Given the description of an element on the screen output the (x, y) to click on. 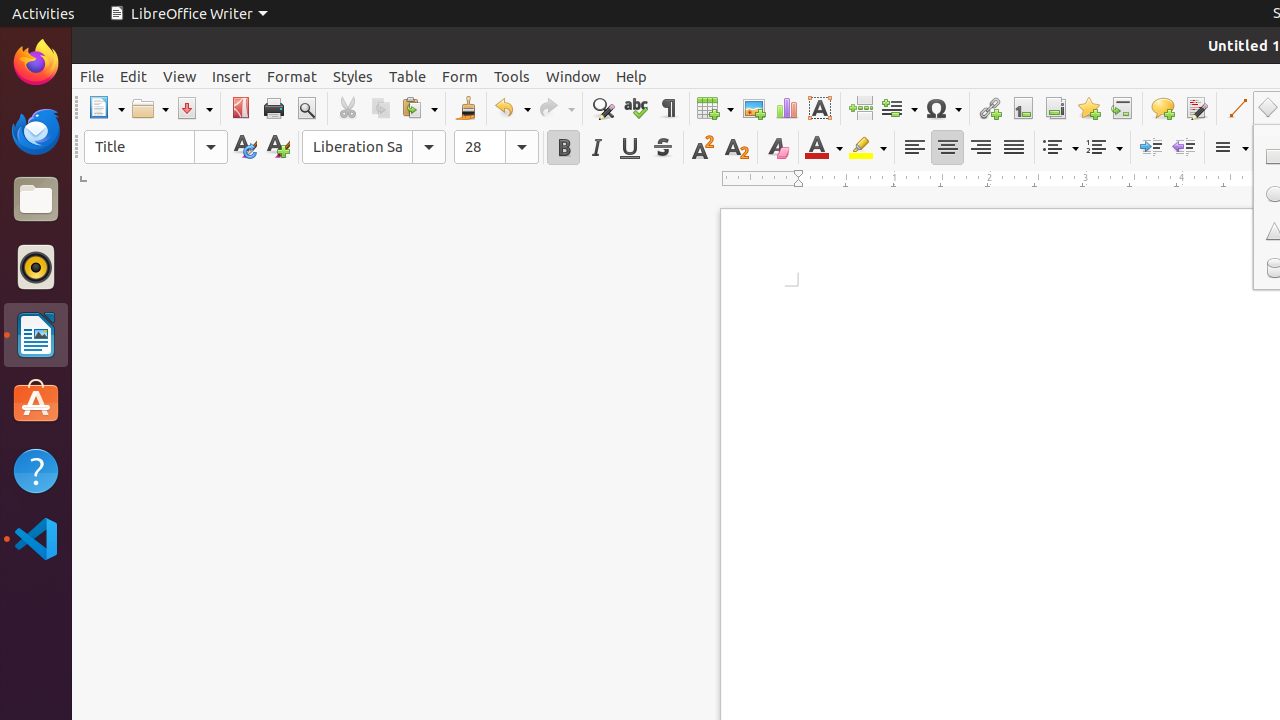
Tools Element type: menu (512, 76)
Bookmark Element type: push-button (1088, 108)
